Given the description of an element on the screen output the (x, y) to click on. 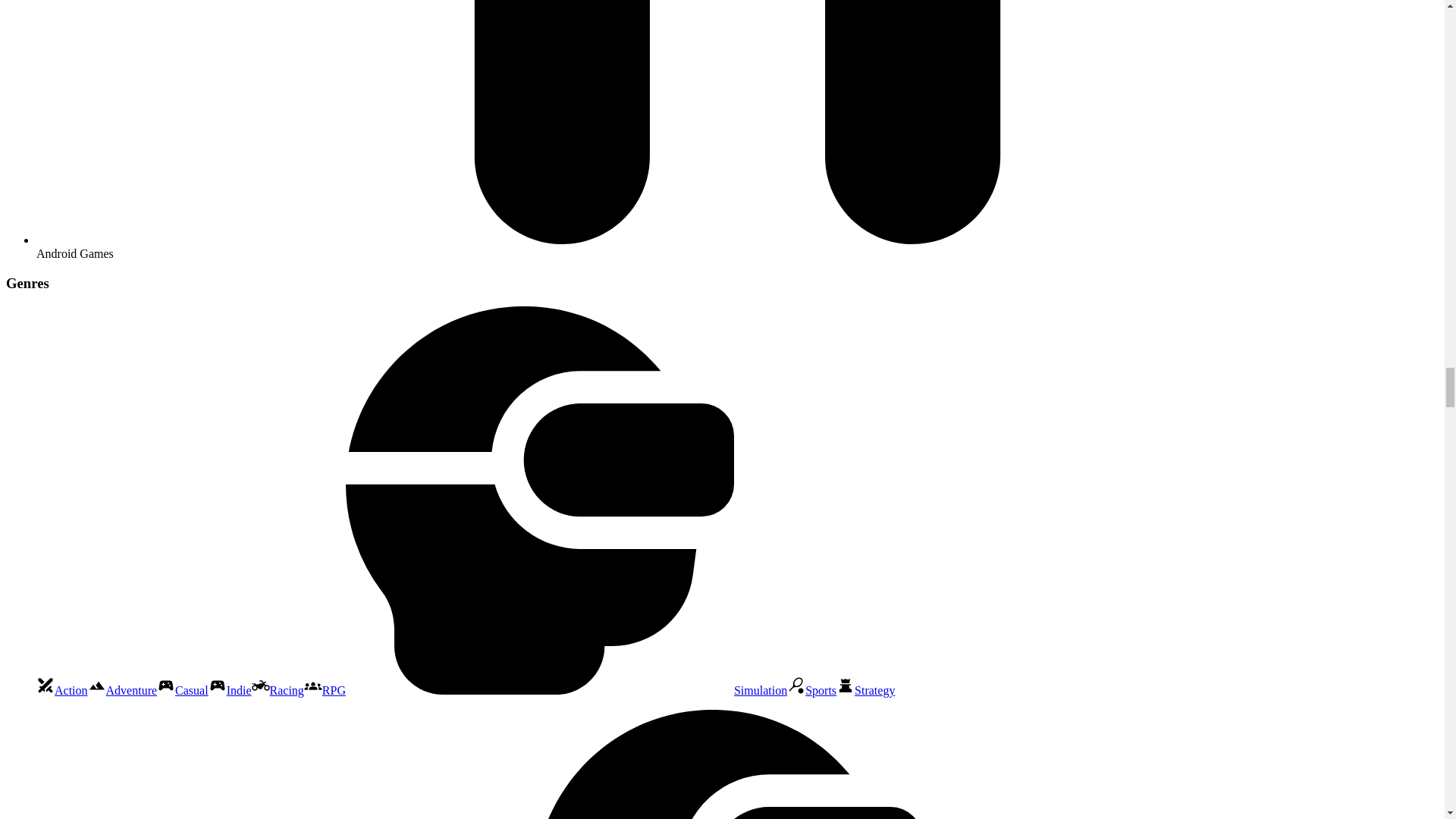
Simulation (566, 689)
Casual (182, 689)
Action (61, 689)
Adventure (122, 689)
Indie (229, 689)
Sports (811, 689)
RPG (325, 689)
Racing (277, 689)
Strategy (865, 689)
